Given the description of an element on the screen output the (x, y) to click on. 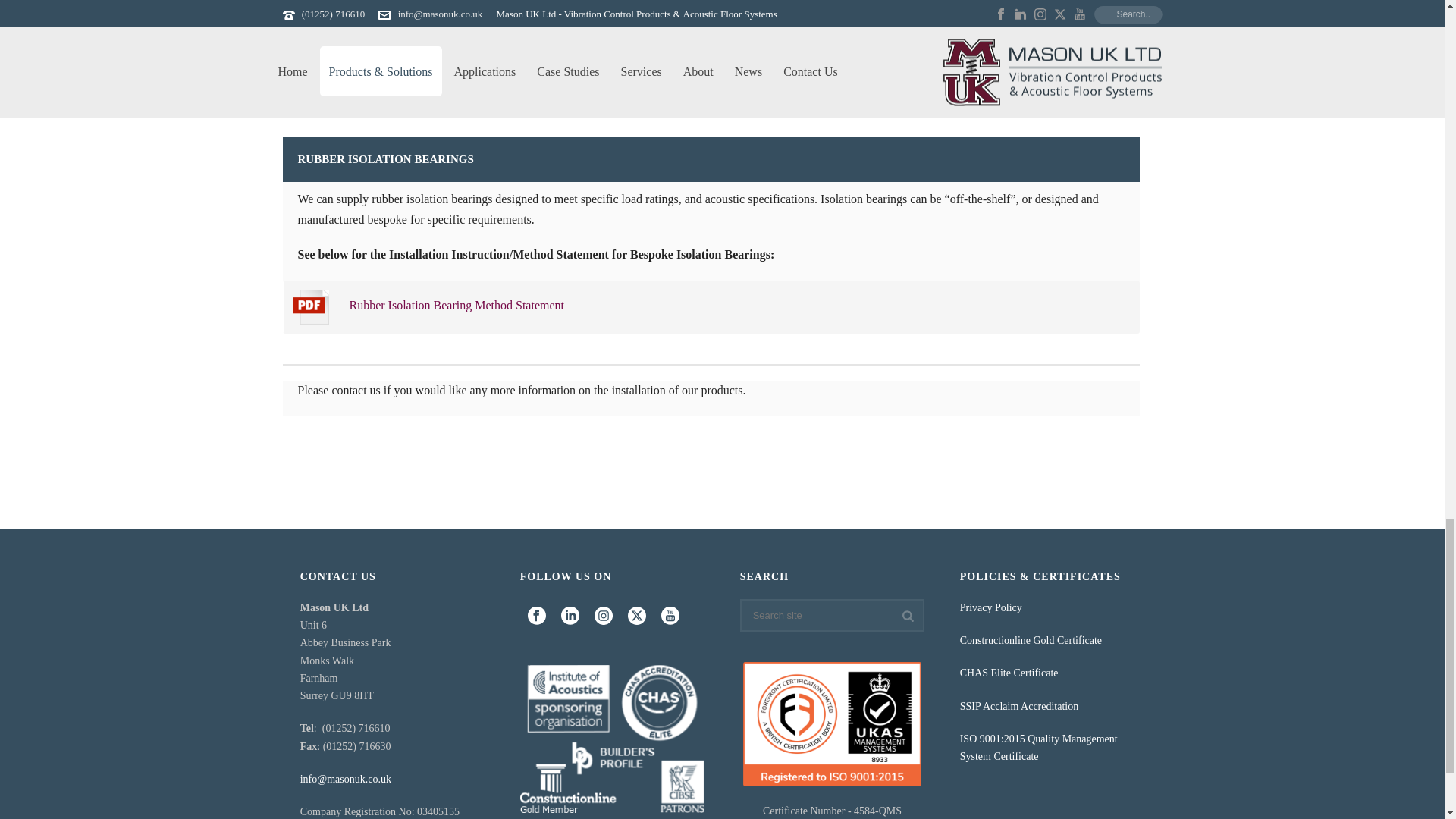
 facebook (536, 616)
 linkedin (569, 616)
